Given the description of an element on the screen output the (x, y) to click on. 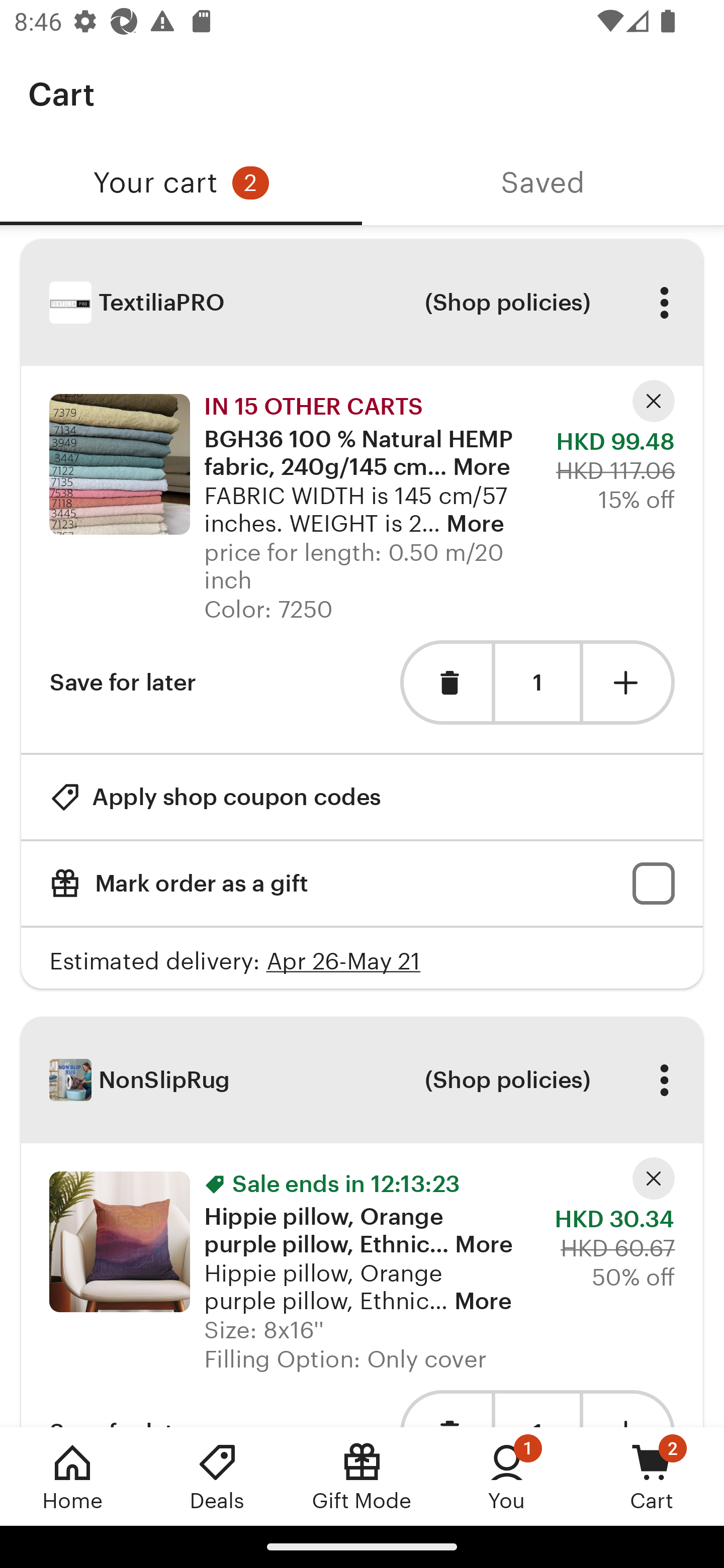
Saved, tab 2 of 2 Saved (543, 183)
TextiliaPRO (Shop policies) More options (361, 302)
(Shop policies) (507, 302)
More options (663, 302)
Save for later (122, 681)
Remove item from cart (445, 681)
Add one unit to cart (628, 681)
1 (537, 682)
Apply shop coupon codes (215, 796)
Mark order as a gift (361, 883)
NonSlipRug (Shop policies) More options (361, 1079)
(Shop policies) (507, 1080)
More options (663, 1080)
Home (72, 1475)
Deals (216, 1475)
Gift Mode (361, 1475)
You, 1 new notification You (506, 1475)
